Given the description of an element on the screen output the (x, y) to click on. 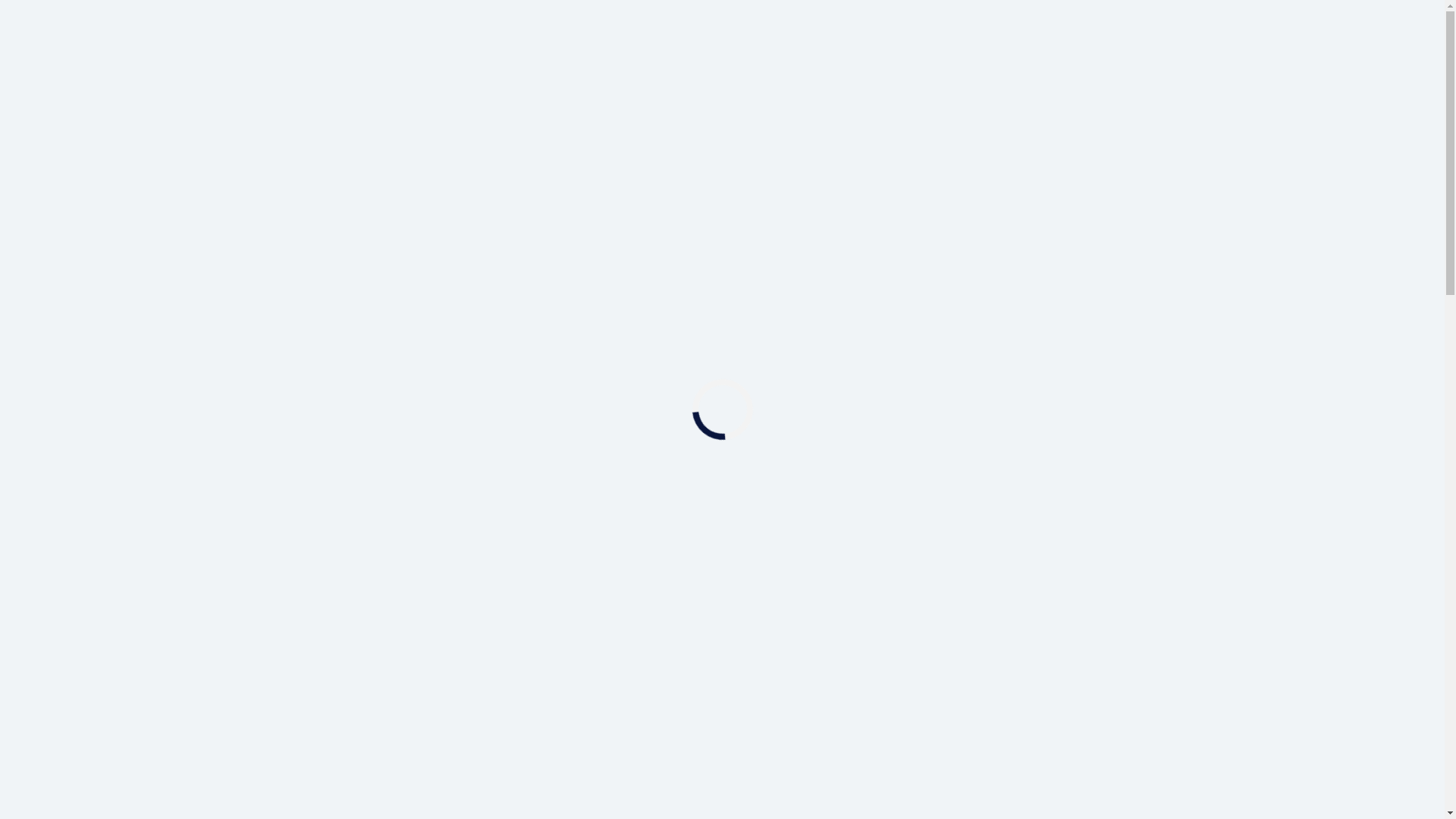
(02) 9682 3777 Element type: text (741, 60)
Corporate and Commercial Law , Element type: text (933, 661)
Projects, Building and Construction, Element type: text (947, 695)
Commercial Disputes, Element type: text (1152, 661)
OUR TEAM Element type: text (951, 156)
PERSONAL LEGAL SERVICES Element type: text (774, 156)
Phone: 02 9682 3777 Element type: text (815, 616)
OUR TEAM Element type: text (232, 349)
HOME Element type: text (187, 349)
CHRIS MALEY Element type: text (299, 349)
HOME Element type: text (197, 156)
Trust Law Element type: text (1132, 695)
Public Notary, Element type: text (1069, 645)
ABOUT MACLARENS Element type: text (324, 156)
CONTACT Element type: text (1234, 156)
Property & Conveyancing, Element type: text (907, 645)
Email: cmaley@maclarens.com.au Element type: text (868, 587)
NEWS & RESOURCES Element type: text (1095, 156)
Buying & Selling Businesses, Element type: text (917, 678)
BUSINESS LEGAL SERVICES Element type: text (532, 156)
